Given the description of an element on the screen output the (x, y) to click on. 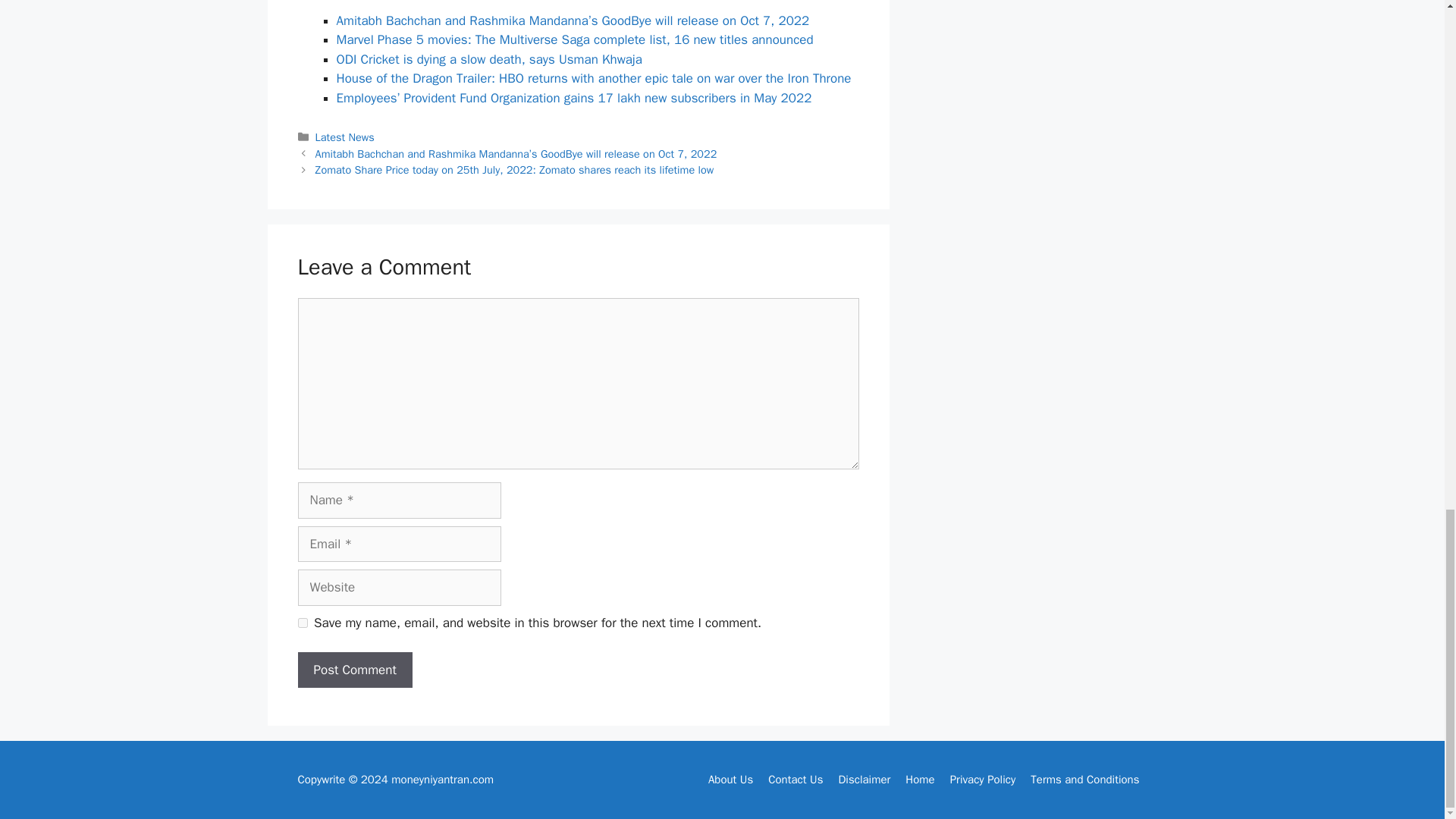
Scroll back to top (1406, 170)
Latest News (344, 137)
yes (302, 623)
Post Comment (354, 669)
ODI Cricket is dying a slow death, says Usman Khwaja (489, 59)
Post Comment (354, 669)
